Given the description of an element on the screen output the (x, y) to click on. 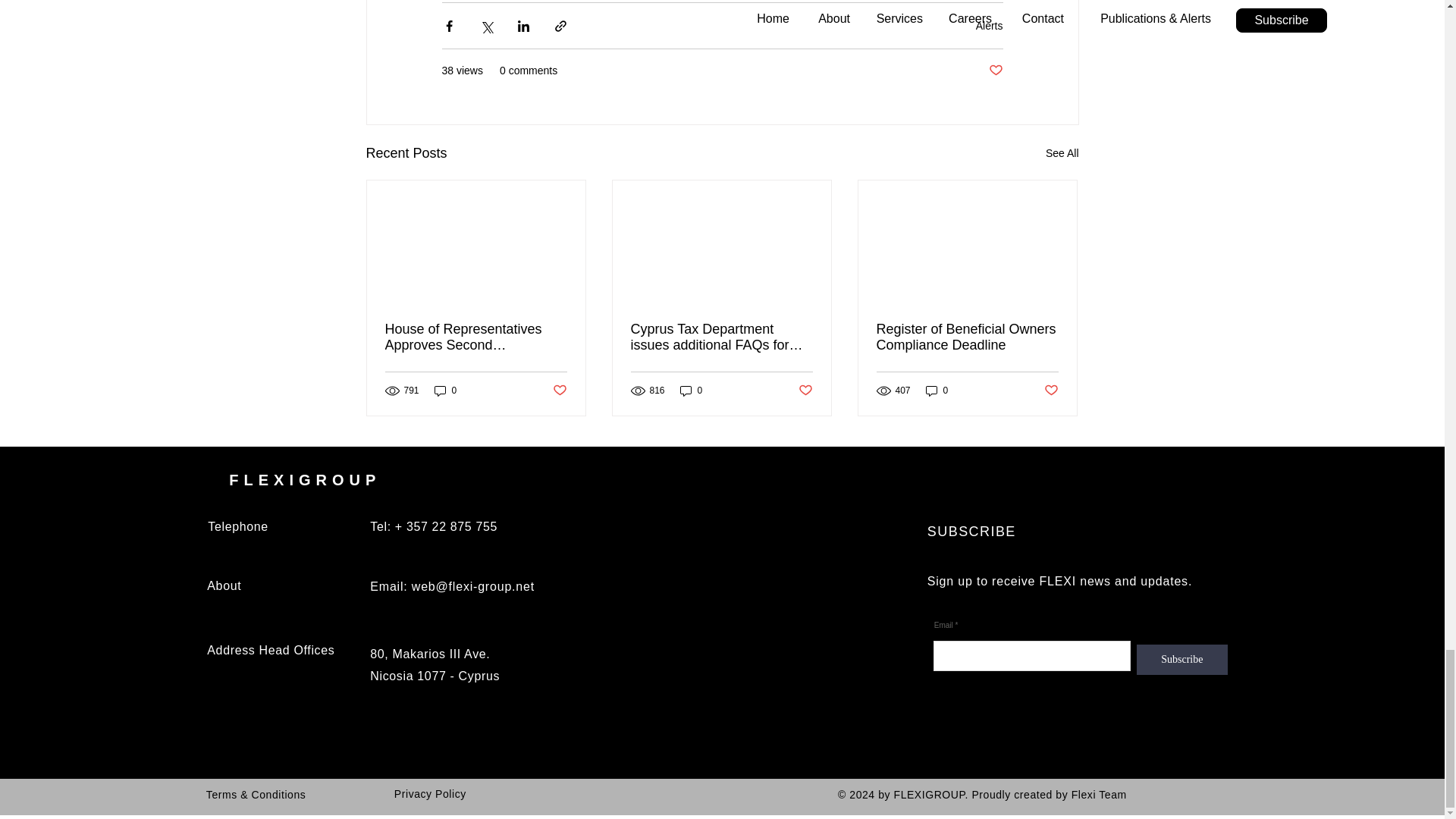
FLEXIGROUP (304, 479)
Register of Beneficial Owners Compliance Deadline (967, 336)
Post not marked as liked (1050, 390)
0 (691, 391)
Post not marked as liked (804, 390)
0 (445, 391)
Alerts (989, 25)
See All (1061, 153)
Post not marked as liked (558, 390)
0 (937, 391)
Post not marked as liked (995, 70)
